Given the description of an element on the screen output the (x, y) to click on. 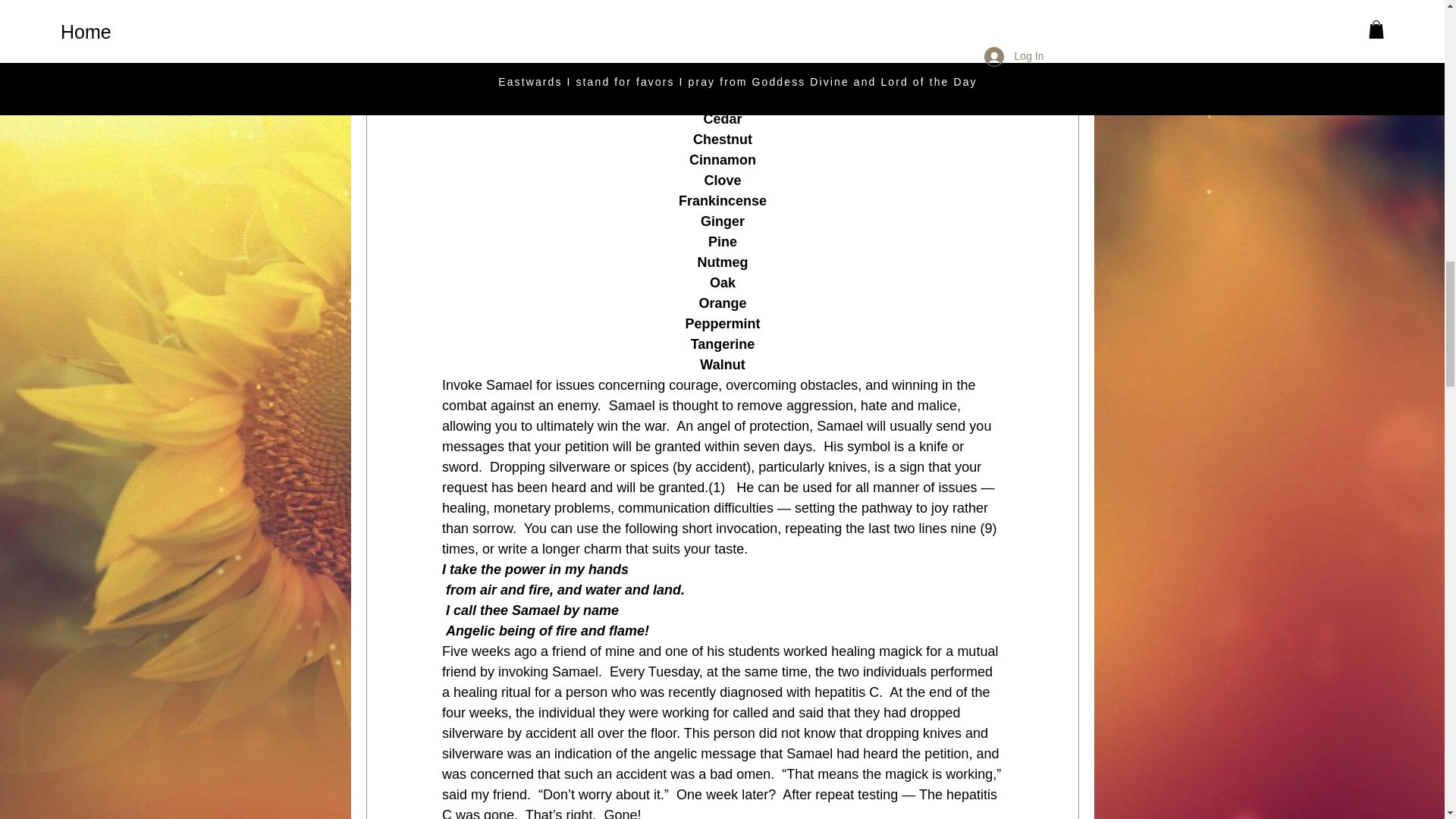
planetary hour calculator.  (892, 2)
Planetary Hours. (768, 37)
